Given the description of an element on the screen output the (x, y) to click on. 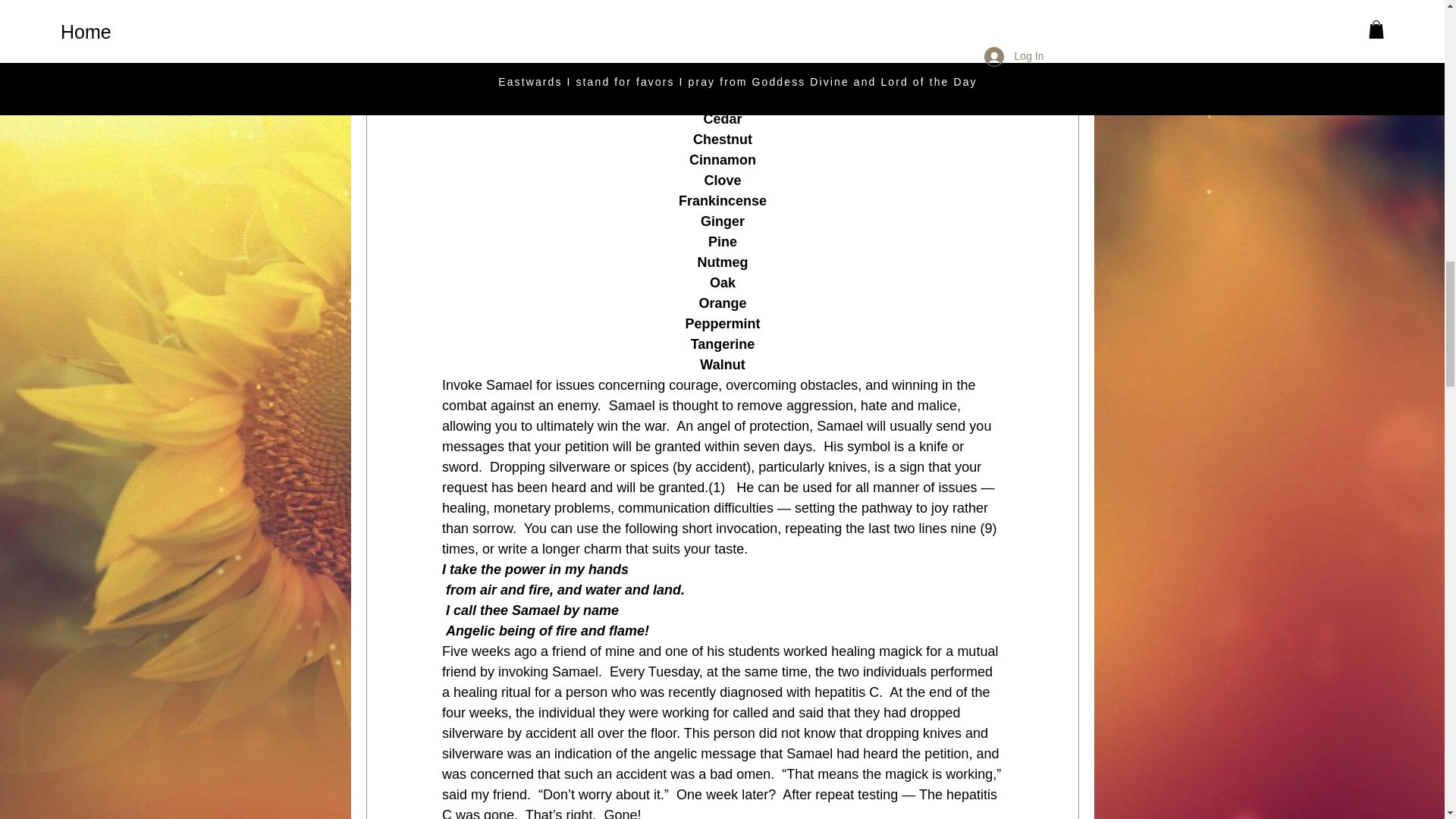
planetary hour calculator.  (892, 2)
Planetary Hours. (768, 37)
